Given the description of an element on the screen output the (x, y) to click on. 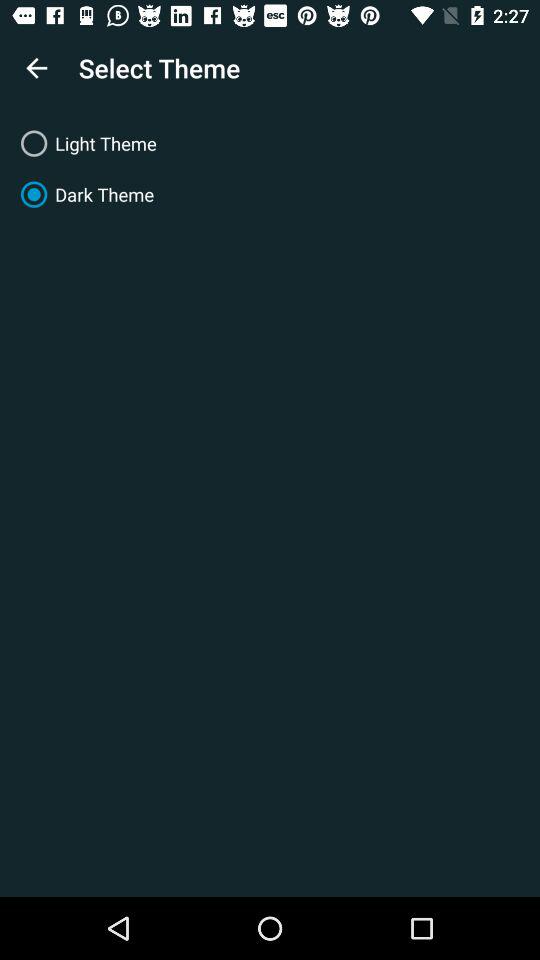
flip until the dark theme icon (269, 194)
